Given the description of an element on the screen output the (x, y) to click on. 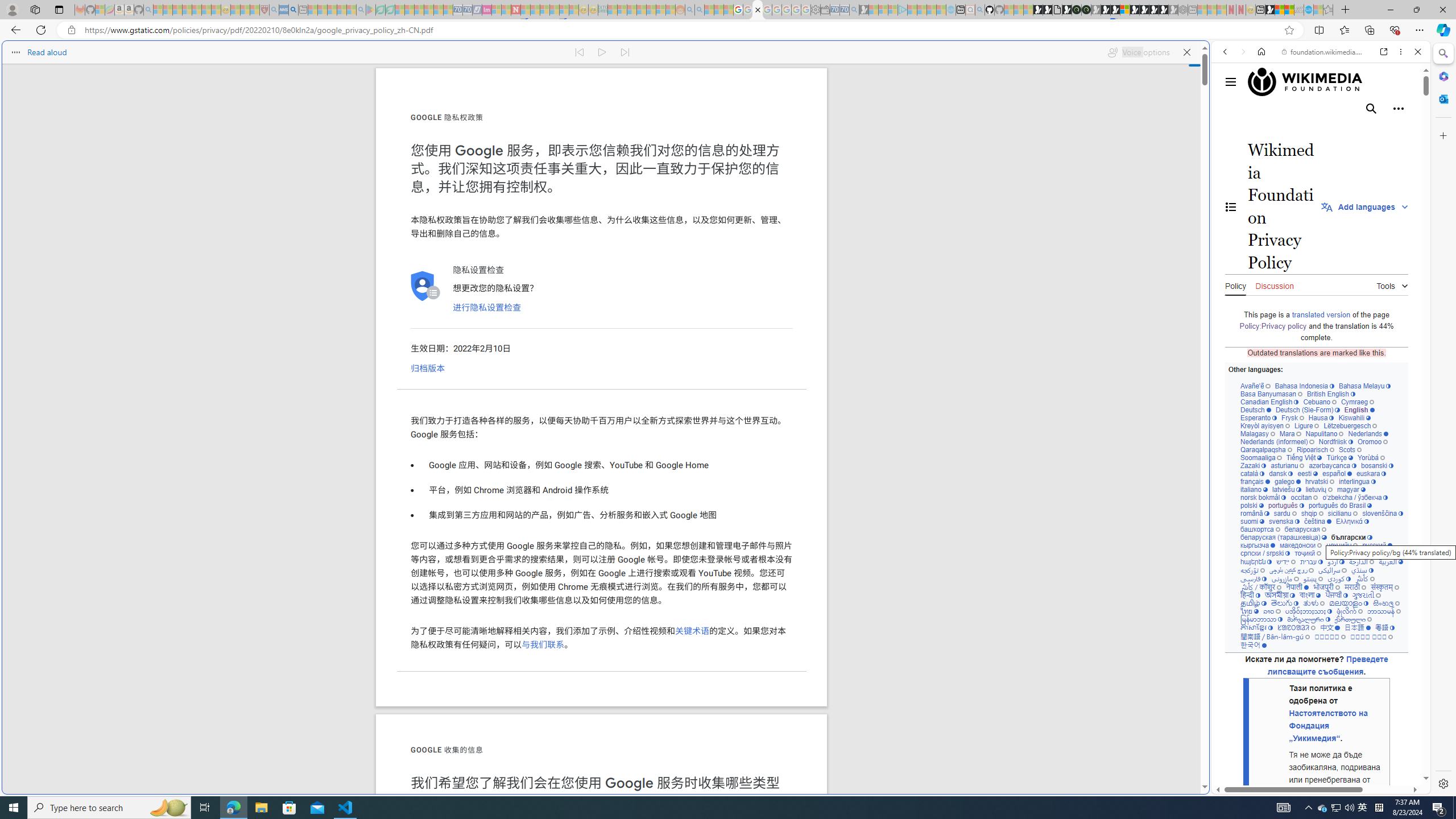
galego (1287, 481)
Hausa (1320, 417)
euskara (1370, 473)
Basa Banyumasan (1271, 393)
